Given the description of an element on the screen output the (x, y) to click on. 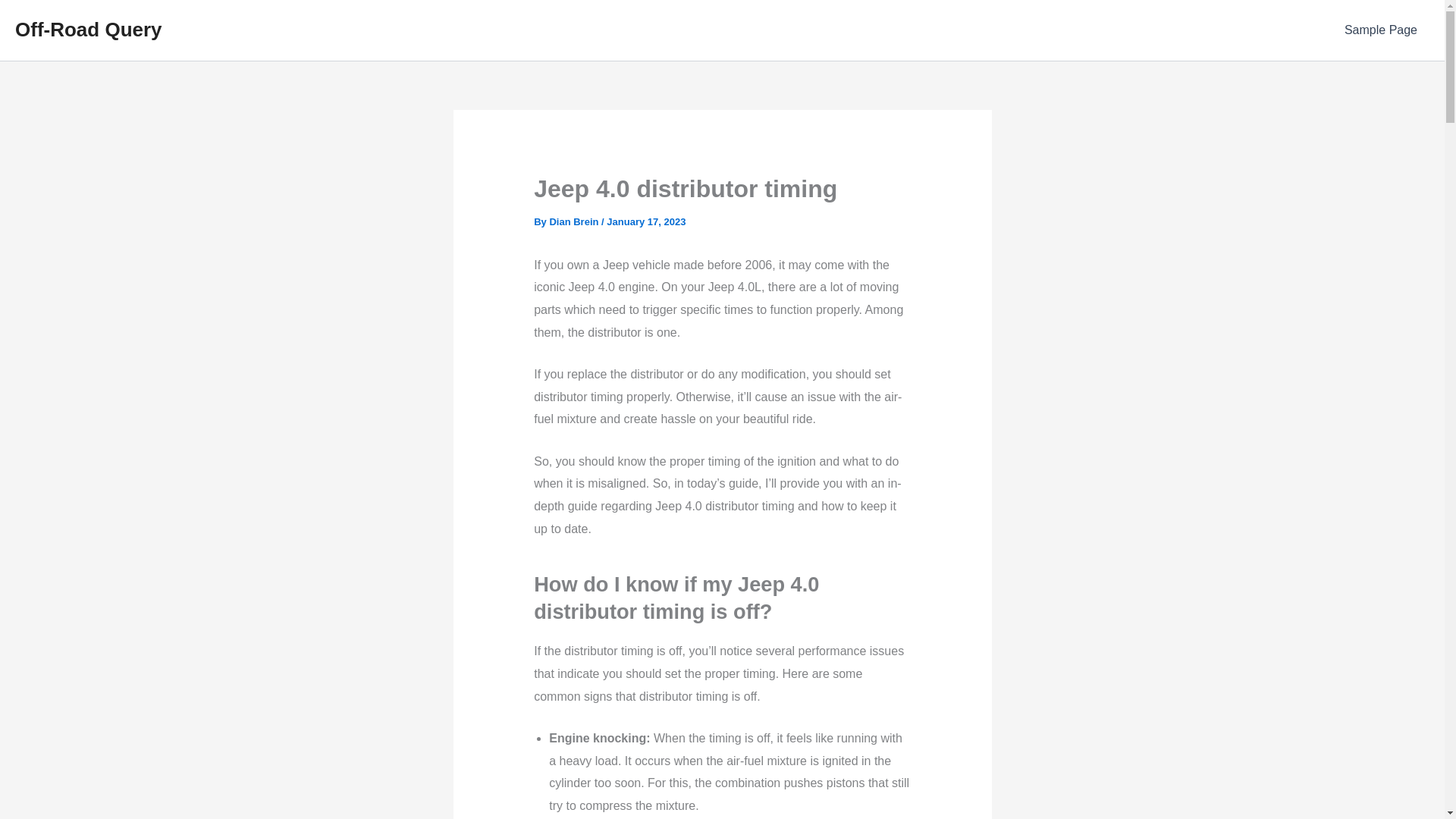
Off-Road Query (87, 29)
Sample Page (1380, 30)
View all posts by Dian Brein (574, 221)
Dian Brein (574, 221)
